Given the description of an element on the screen output the (x, y) to click on. 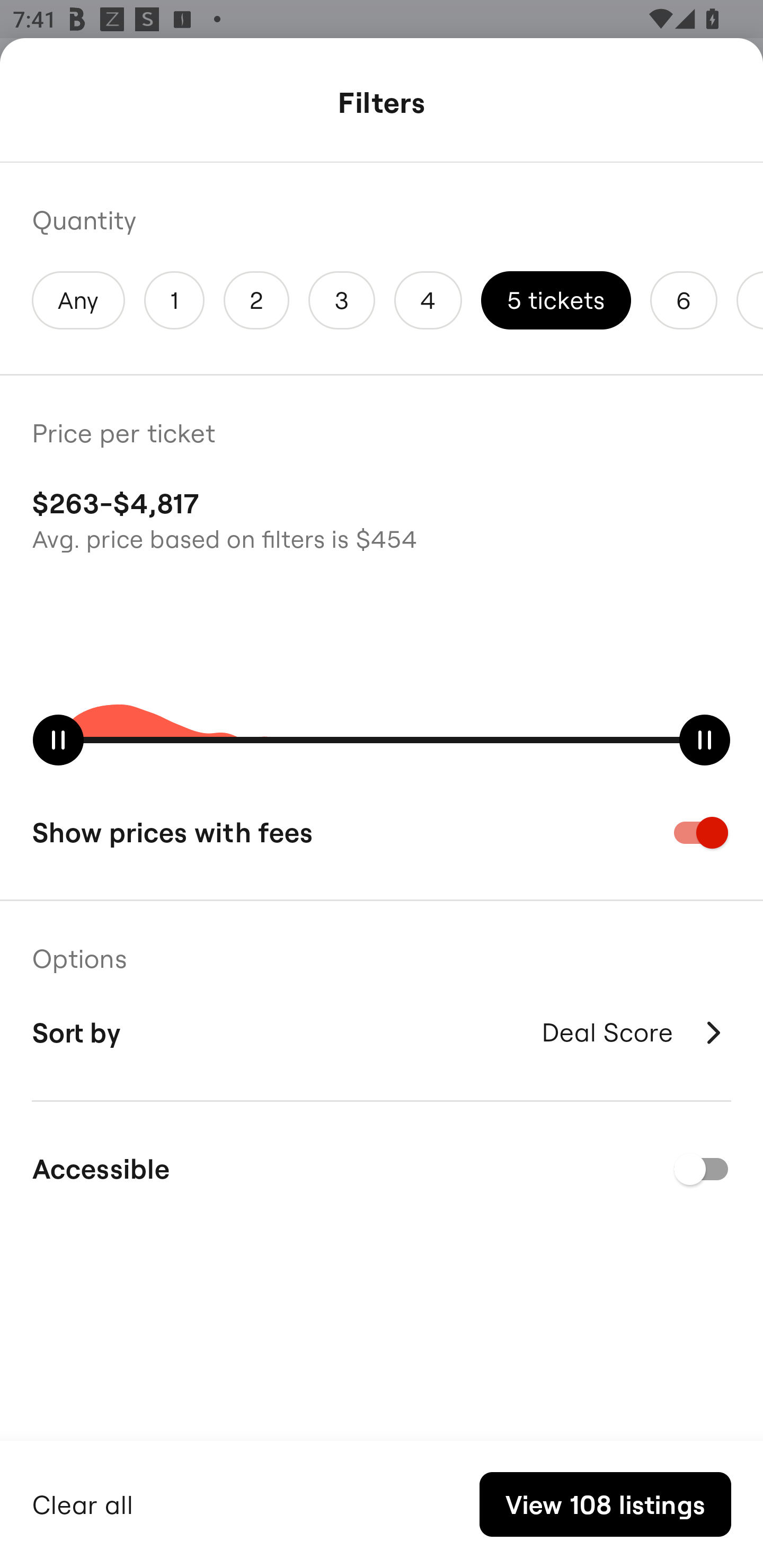
Any (78, 300)
1 (173, 300)
2 (256, 300)
3 (341, 300)
4 (427, 300)
5 tickets (556, 300)
6 (684, 300)
$263-$4,817 Avg. price based on filters is $454 (381, 518)
Show prices with fees (381, 832)
Sort by Deal Score (381, 1032)
Accessible (381, 1168)
Clear all (83, 1502)
View 108 listings (604, 1504)
